Given the description of an element on the screen output the (x, y) to click on. 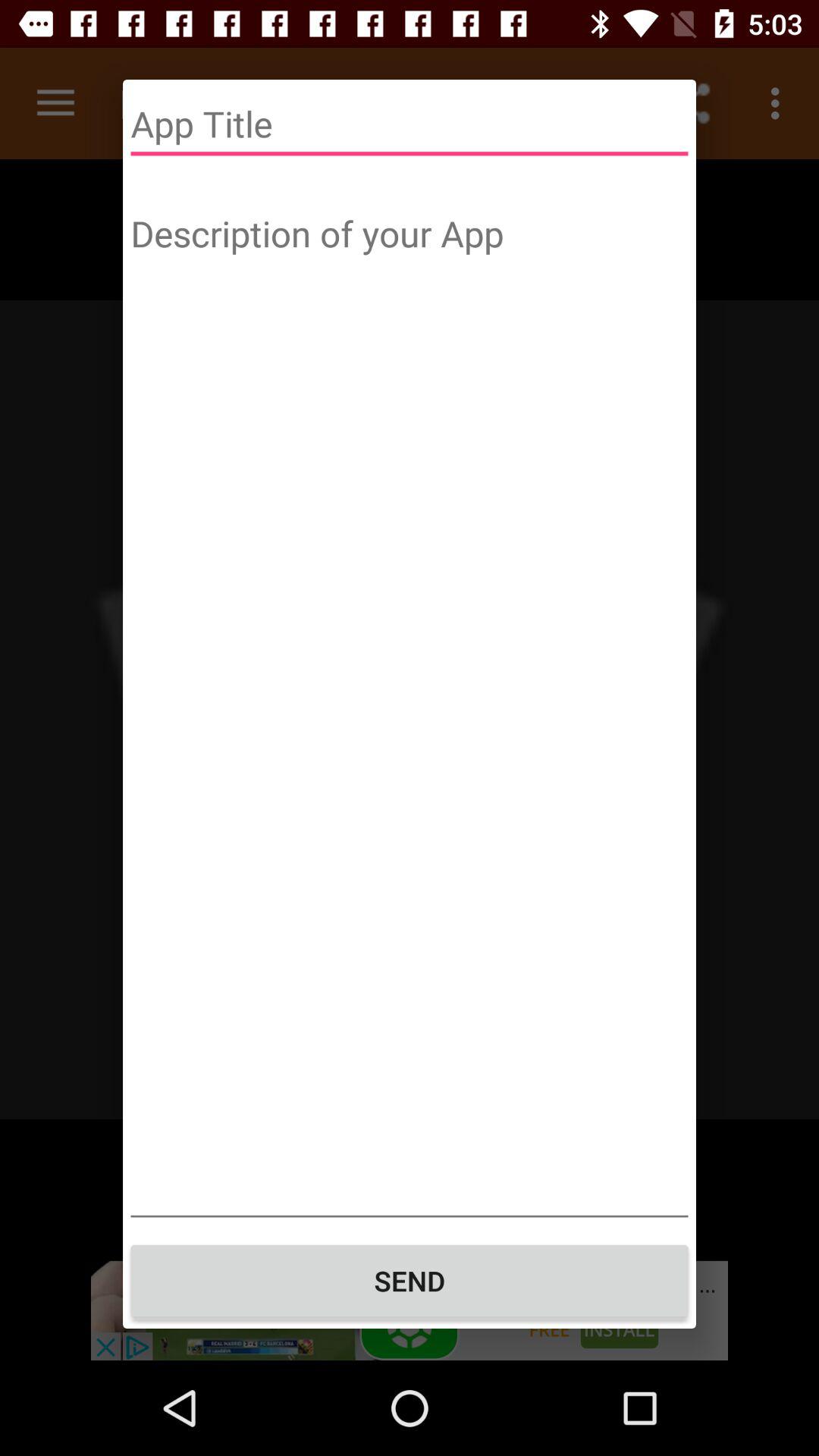
turn on info@icyarena.com (409, 80)
